Given the description of an element on the screen output the (x, y) to click on. 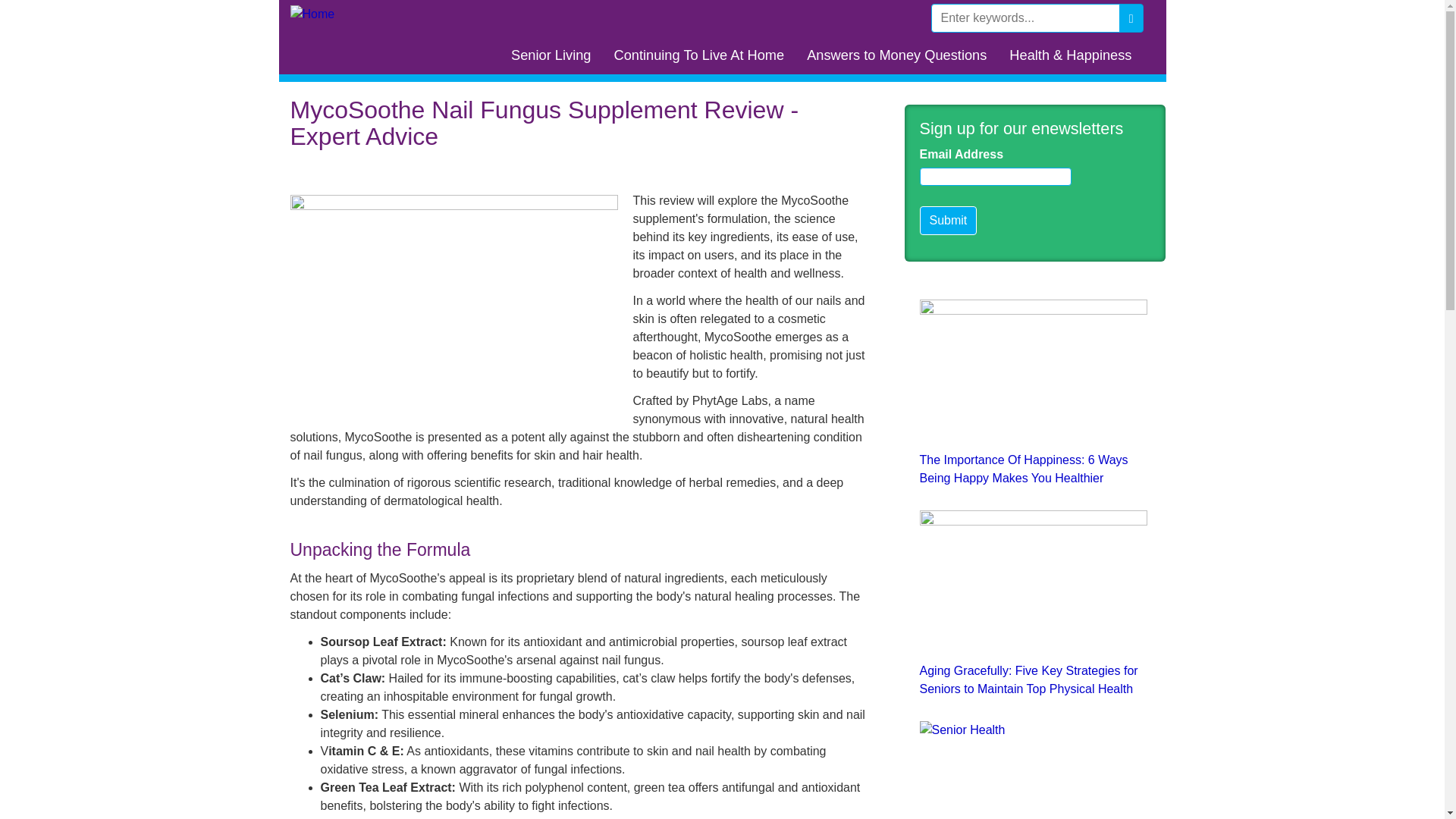
Continuing To Live At Home (698, 55)
Answers to Money Questions (895, 55)
Senior Living (550, 55)
Home (317, 13)
Senior Living (550, 55)
Enter the terms you wish to search for. (1025, 18)
Continuing To Live At Home (698, 55)
Submit (947, 220)
Answers to Money Questions (895, 55)
